Given the description of an element on the screen output the (x, y) to click on. 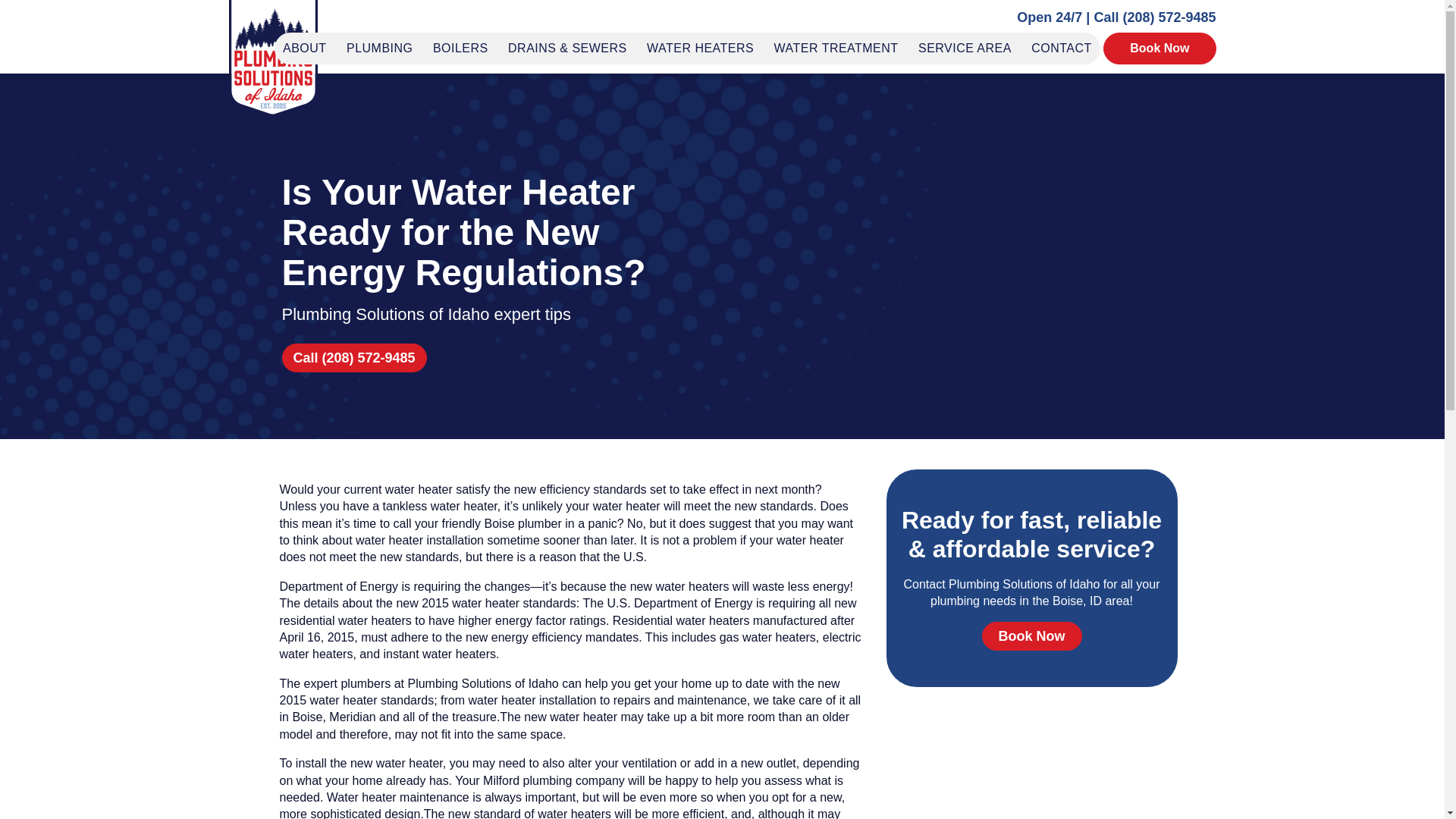
ABOUT (304, 48)
PLUMBING (378, 48)
BOILERS (460, 48)
WATER HEATERS (700, 48)
WATER TREATMENT (836, 48)
